Given the description of an element on the screen output the (x, y) to click on. 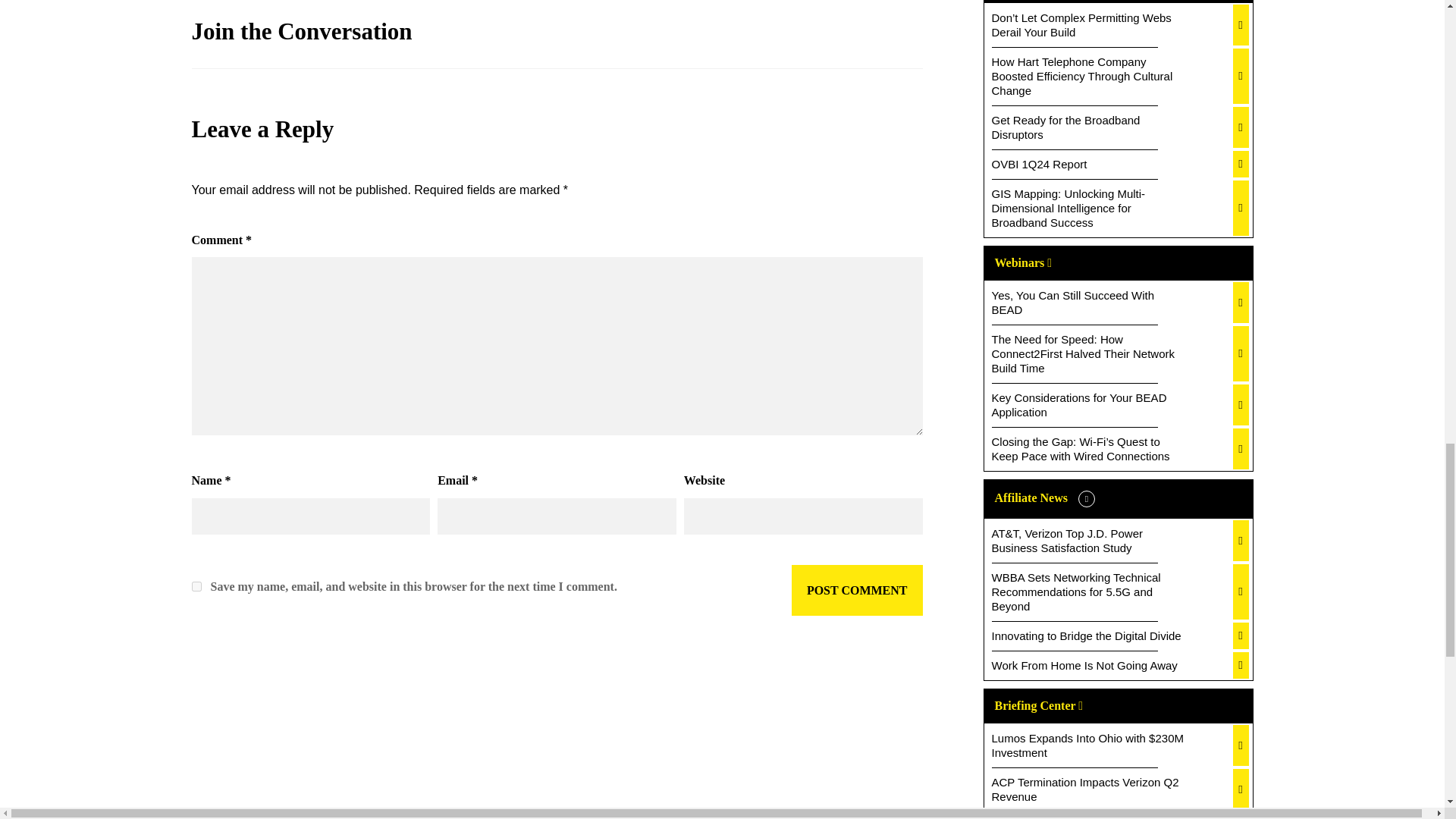
Post Comment (857, 590)
yes (195, 586)
